Given the description of an element on the screen output the (x, y) to click on. 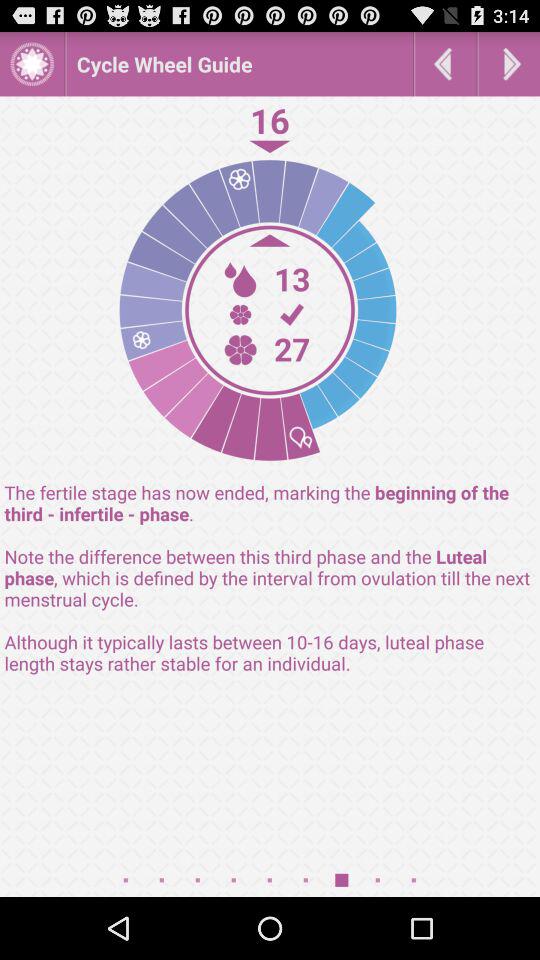
go to settings option (32, 63)
